Given the description of an element on the screen output the (x, y) to click on. 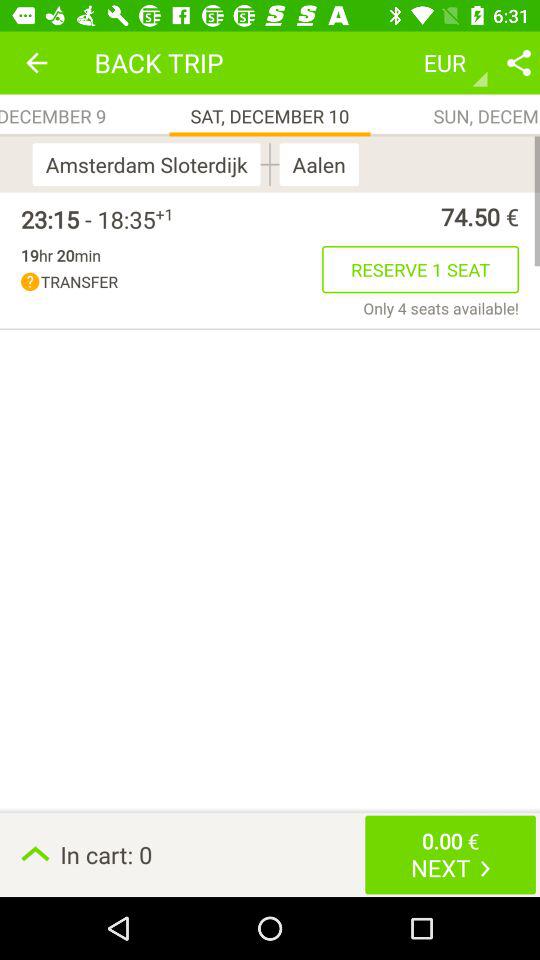
select the icon below fri, december 9 icon (150, 164)
